Given the description of an element on the screen output the (x, y) to click on. 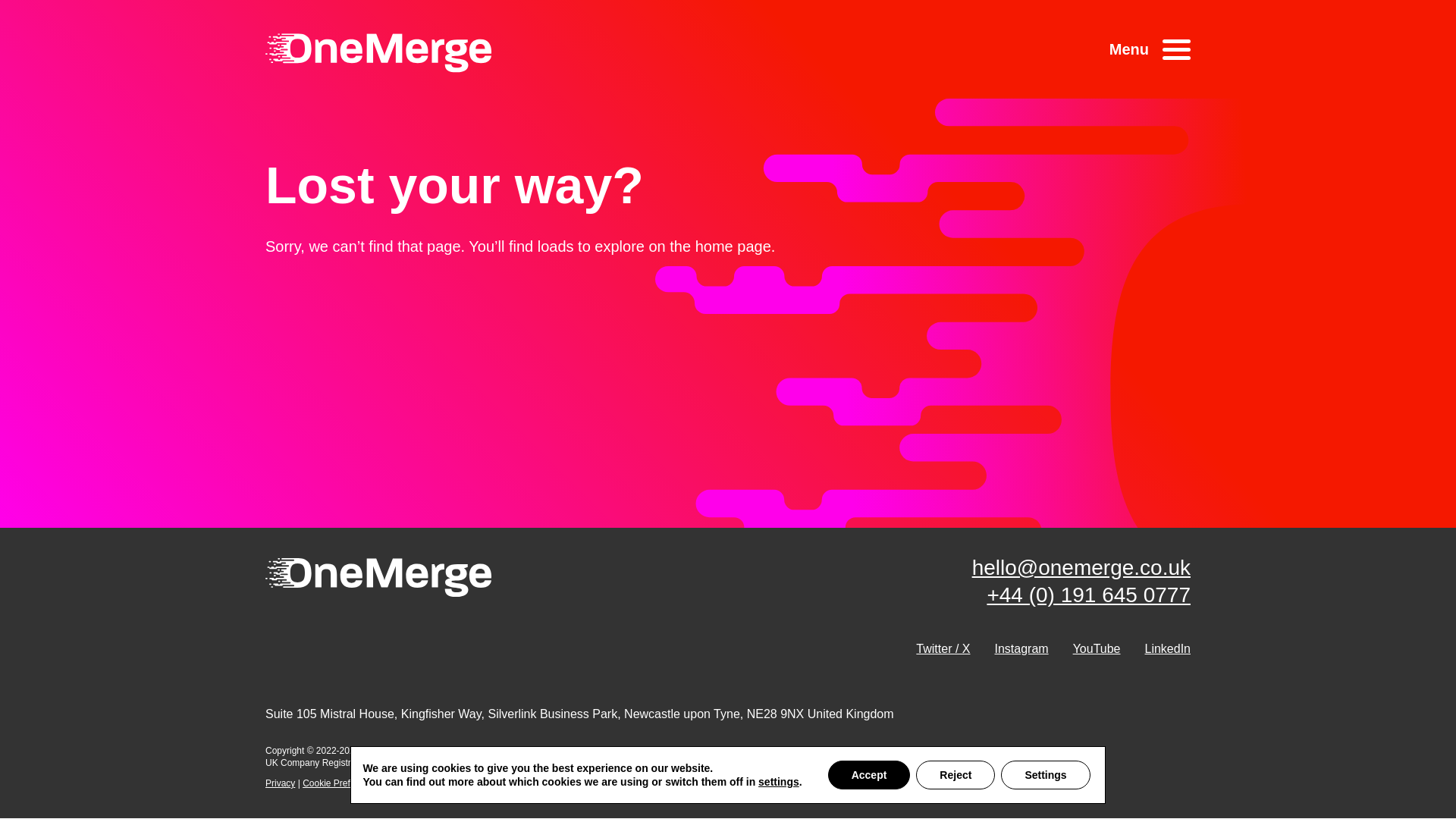
Settings (1045, 774)
settings (778, 781)
Accept (869, 774)
YouTube (1097, 648)
Instagram (1021, 648)
Terms of Service (423, 783)
Menu (1150, 49)
LinkedIn (1167, 648)
Privacy (279, 783)
home page (733, 246)
Reject (954, 774)
Cookie Preferences (341, 783)
